Given the description of an element on the screen output the (x, y) to click on. 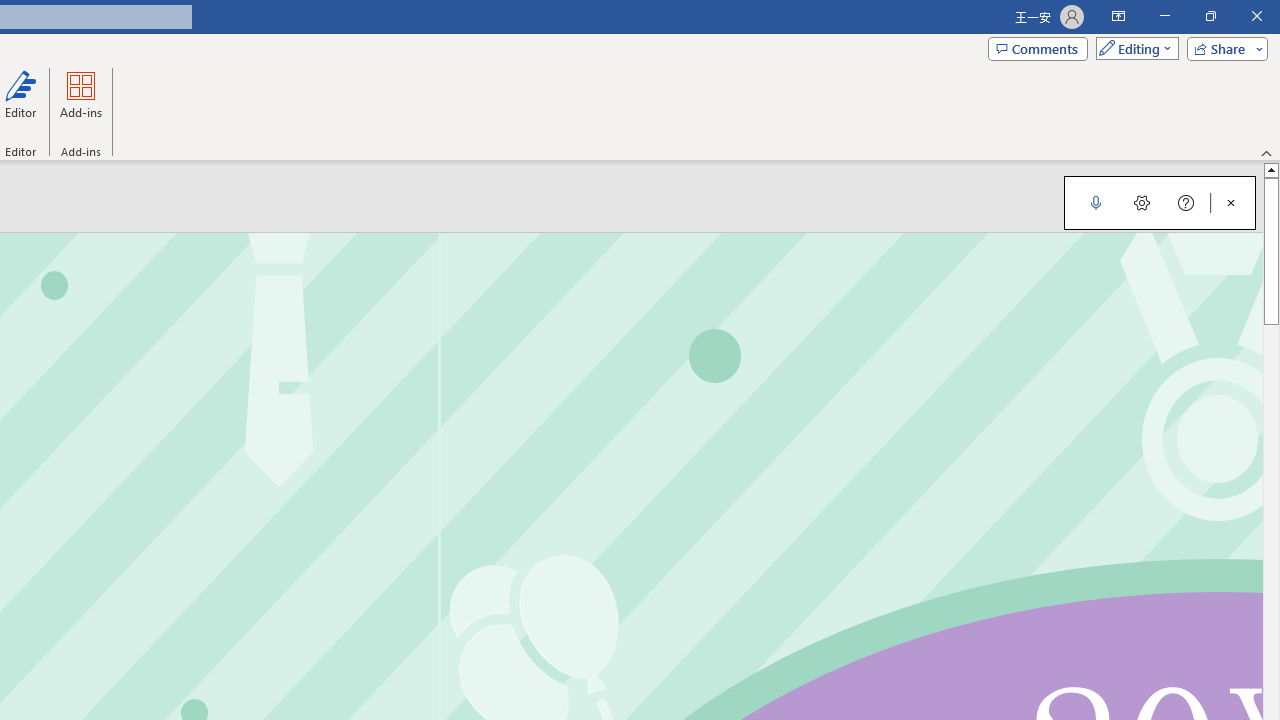
Start Dictation (1096, 202)
Close Dictation (1231, 202)
Dictation Settings (1142, 202)
